Given the description of an element on the screen output the (x, y) to click on. 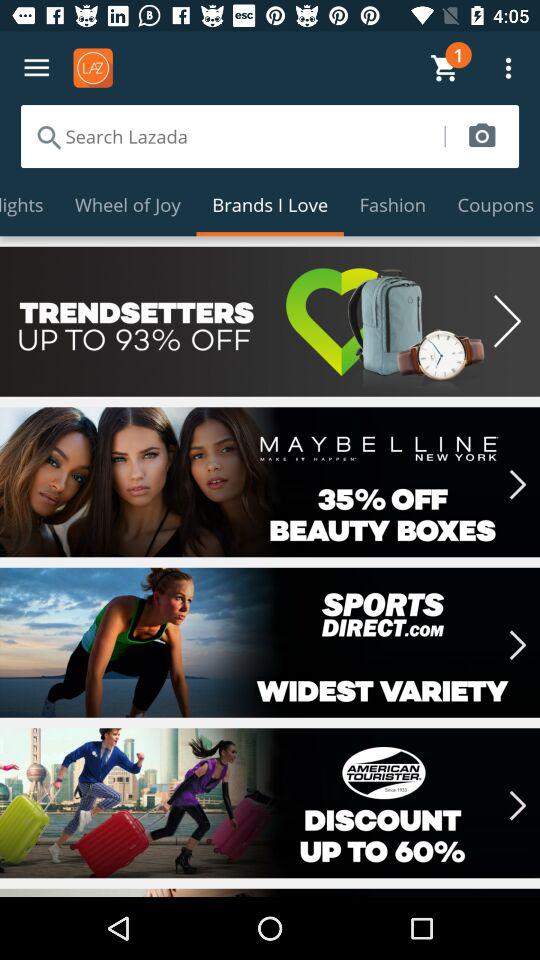
view selected sports equipment (270, 642)
